Given the description of an element on the screen output the (x, y) to click on. 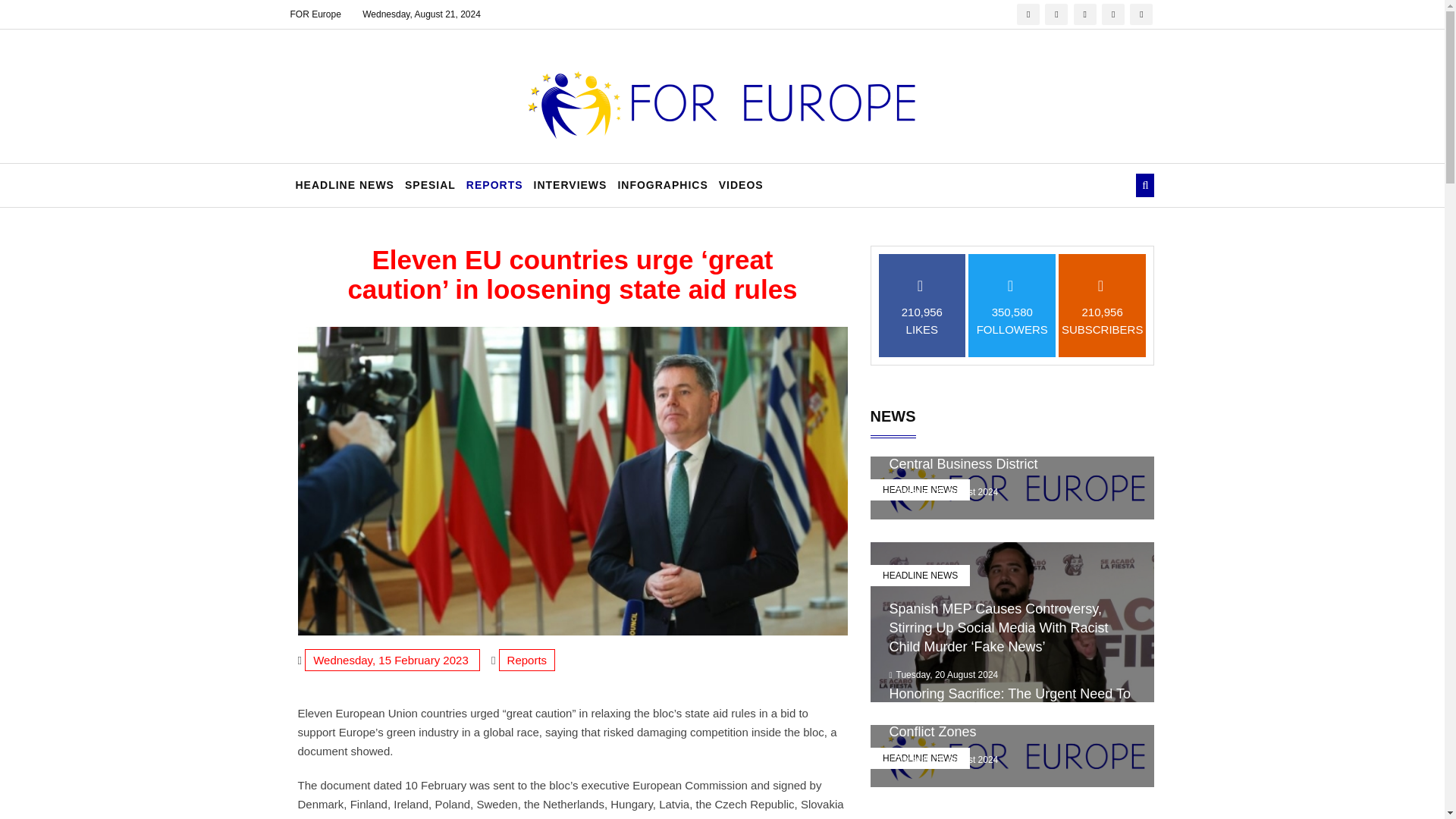
SPESIAL (429, 185)
HEADLINE NEWS (343, 185)
Reports (527, 659)
VIDEOS (740, 185)
INTERVIEWS (570, 185)
INFOGRAPHICS (662, 185)
REPORTS (494, 185)
HEADLINE NEWS (919, 575)
HEADLINE NEWS (919, 489)
